Given the description of an element on the screen output the (x, y) to click on. 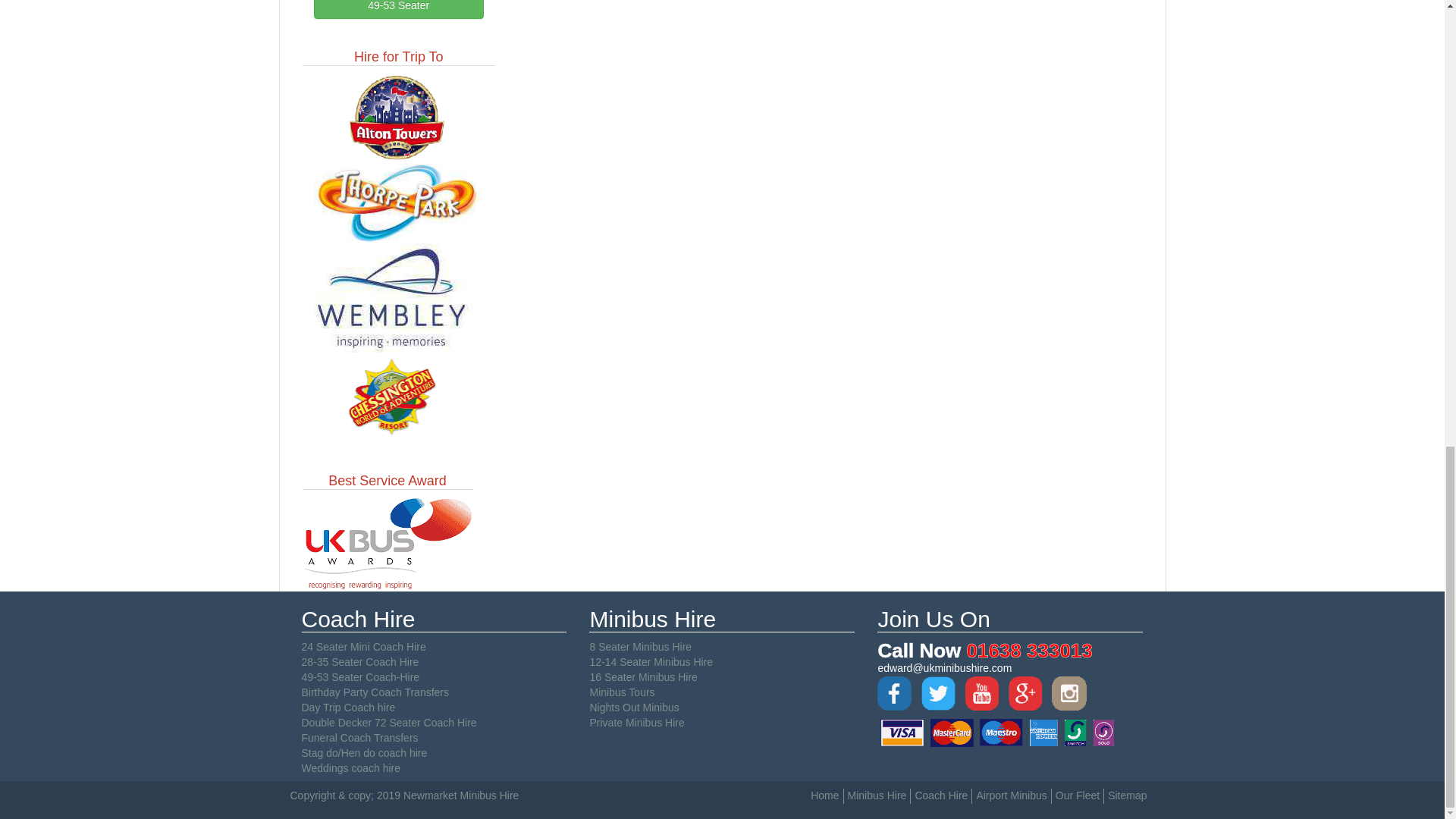
49-53 Seater (399, 9)
Birthday Party Coach Transfers (375, 692)
49-53 Seater Coach-Hire (360, 676)
24 Seater Mini Coach Hire (363, 646)
28-35 Seater Coach Hire (360, 662)
